Given the description of an element on the screen output the (x, y) to click on. 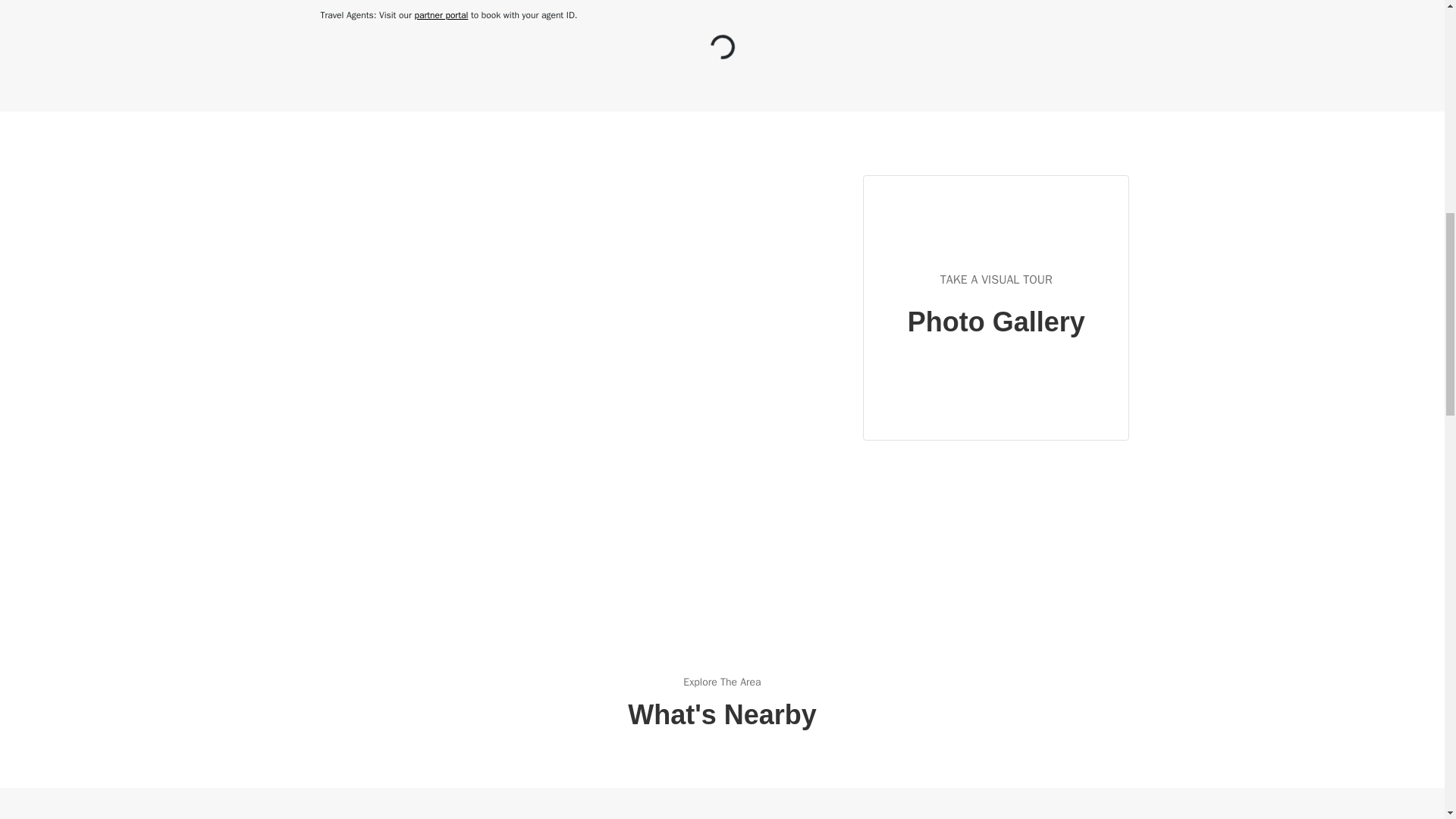
partner portal (440, 15)
